Given the description of an element on the screen output the (x, y) to click on. 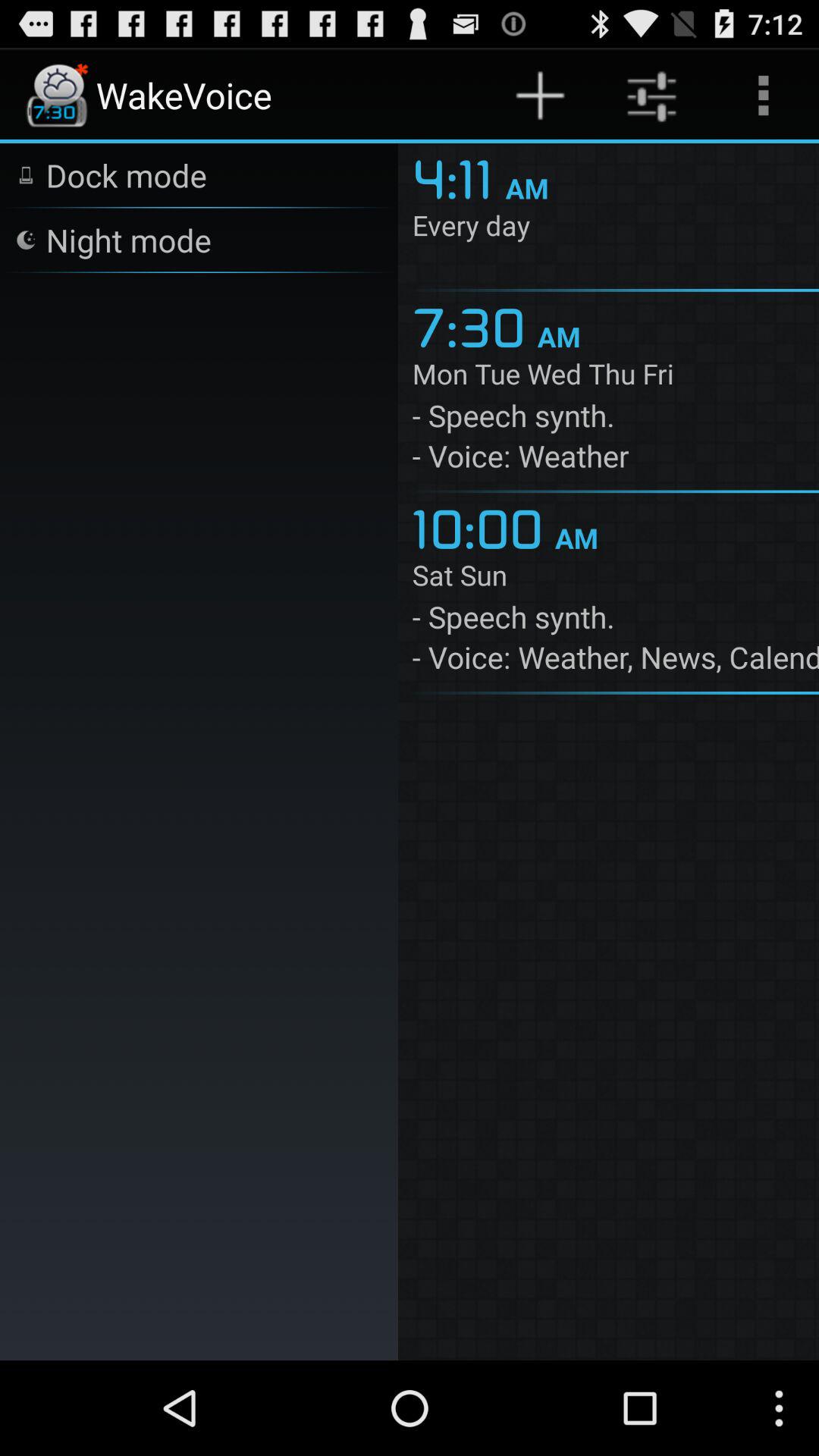
open the app to the right of the night mode icon (458, 176)
